Given the description of an element on the screen output the (x, y) to click on. 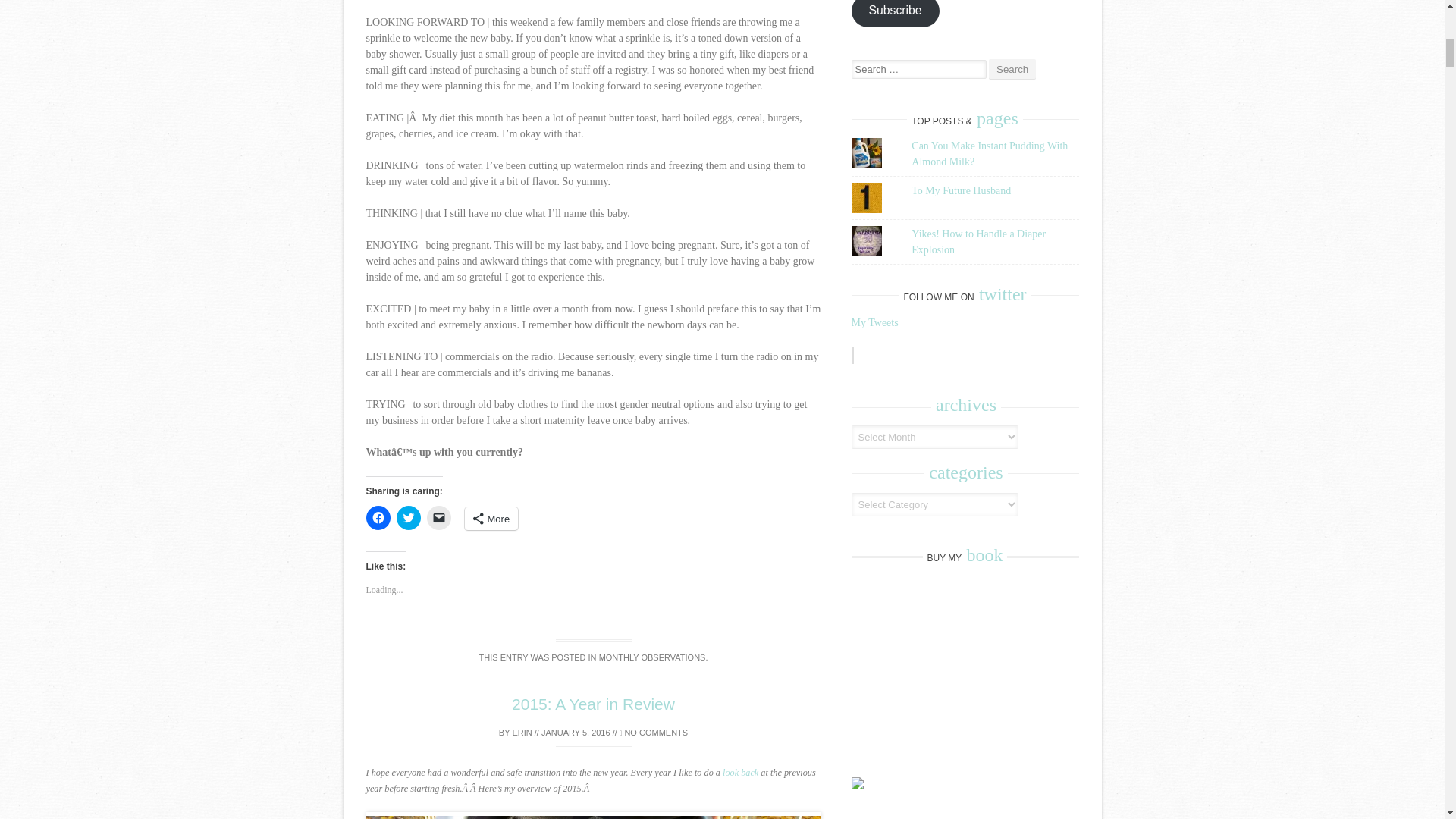
More (491, 517)
Click to share on Facebook (377, 517)
2015: A Year in Review (593, 703)
Search (1011, 68)
ERIN (521, 732)
JANUARY 5, 2016 (575, 732)
Click to email a link to a friend (437, 517)
View all posts by erin (521, 732)
10:00 am (575, 732)
Click to share on Twitter (408, 517)
Search (1011, 68)
NO COMMENTS (653, 732)
look back (740, 772)
MONTHLY OBSERVATIONS (652, 656)
